Given the description of an element on the screen output the (x, y) to click on. 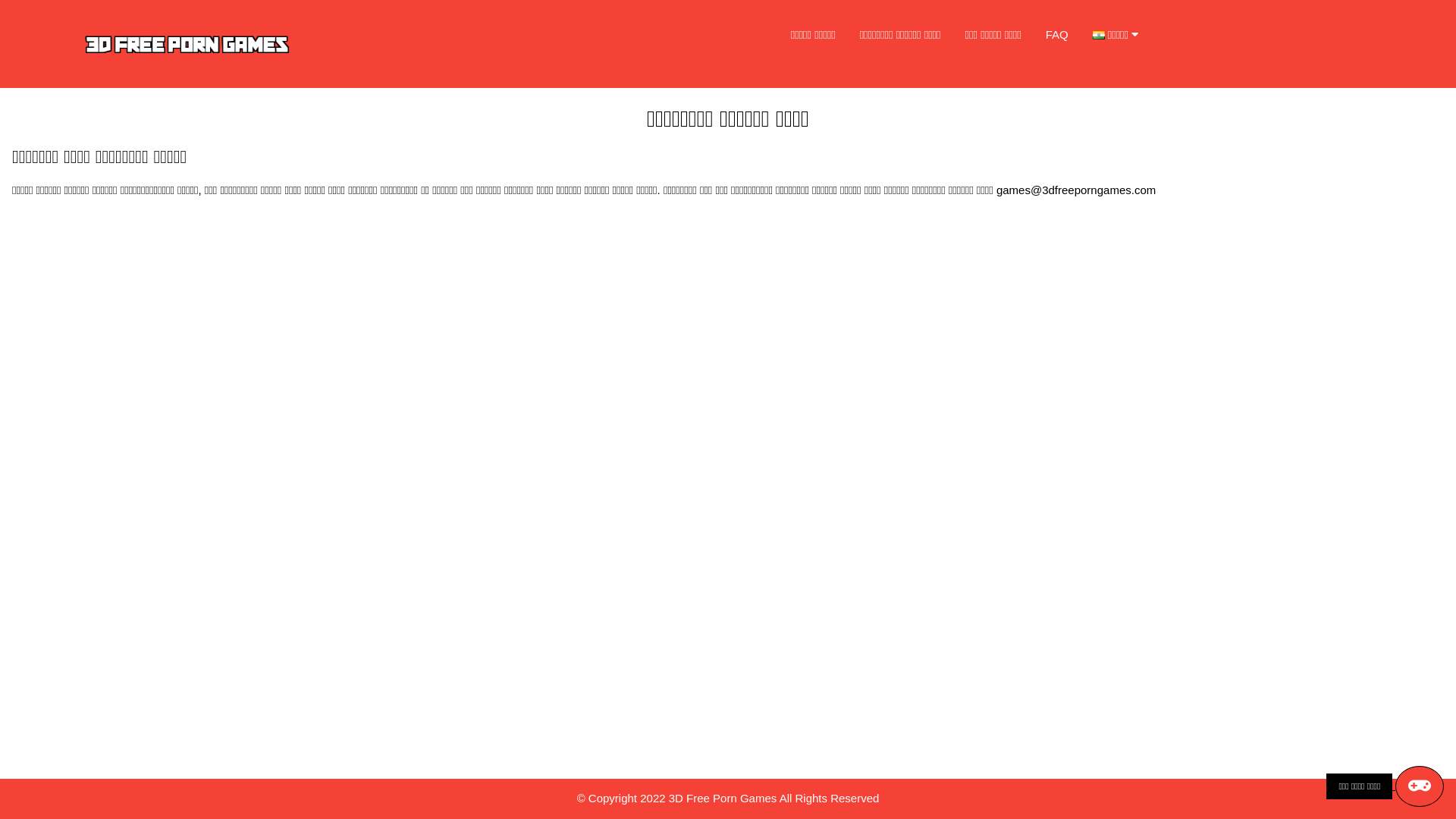
FAQ Element type: text (1056, 35)
